Given the description of an element on the screen output the (x, y) to click on. 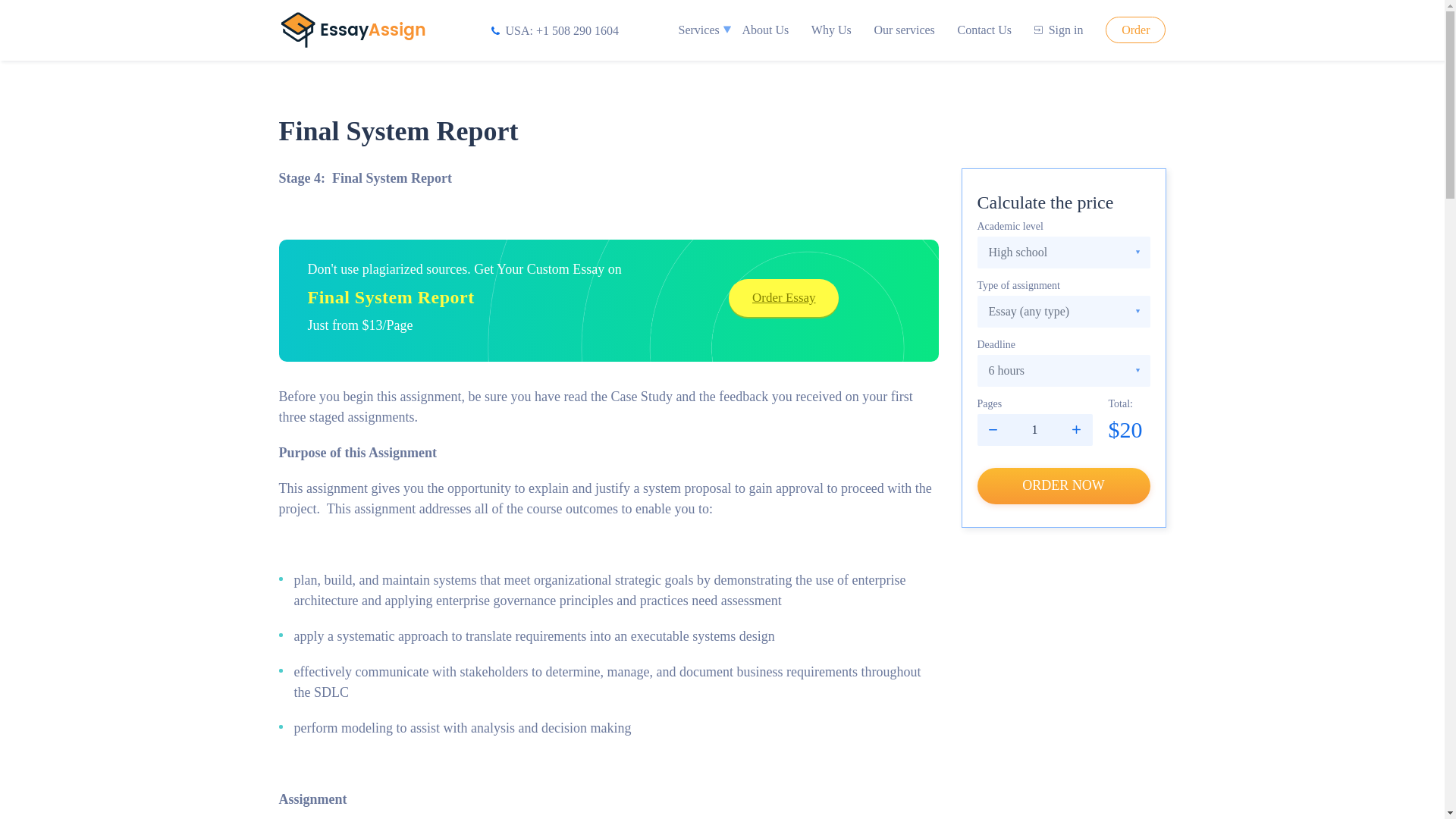
About Us (765, 29)
Why Us (830, 29)
Our services (903, 29)
1 (1034, 429)
ORDER NOW (1063, 485)
Order (1135, 29)
Contact Us (983, 29)
Sign in (1058, 29)
Order Essay (783, 297)
